Given the description of an element on the screen output the (x, y) to click on. 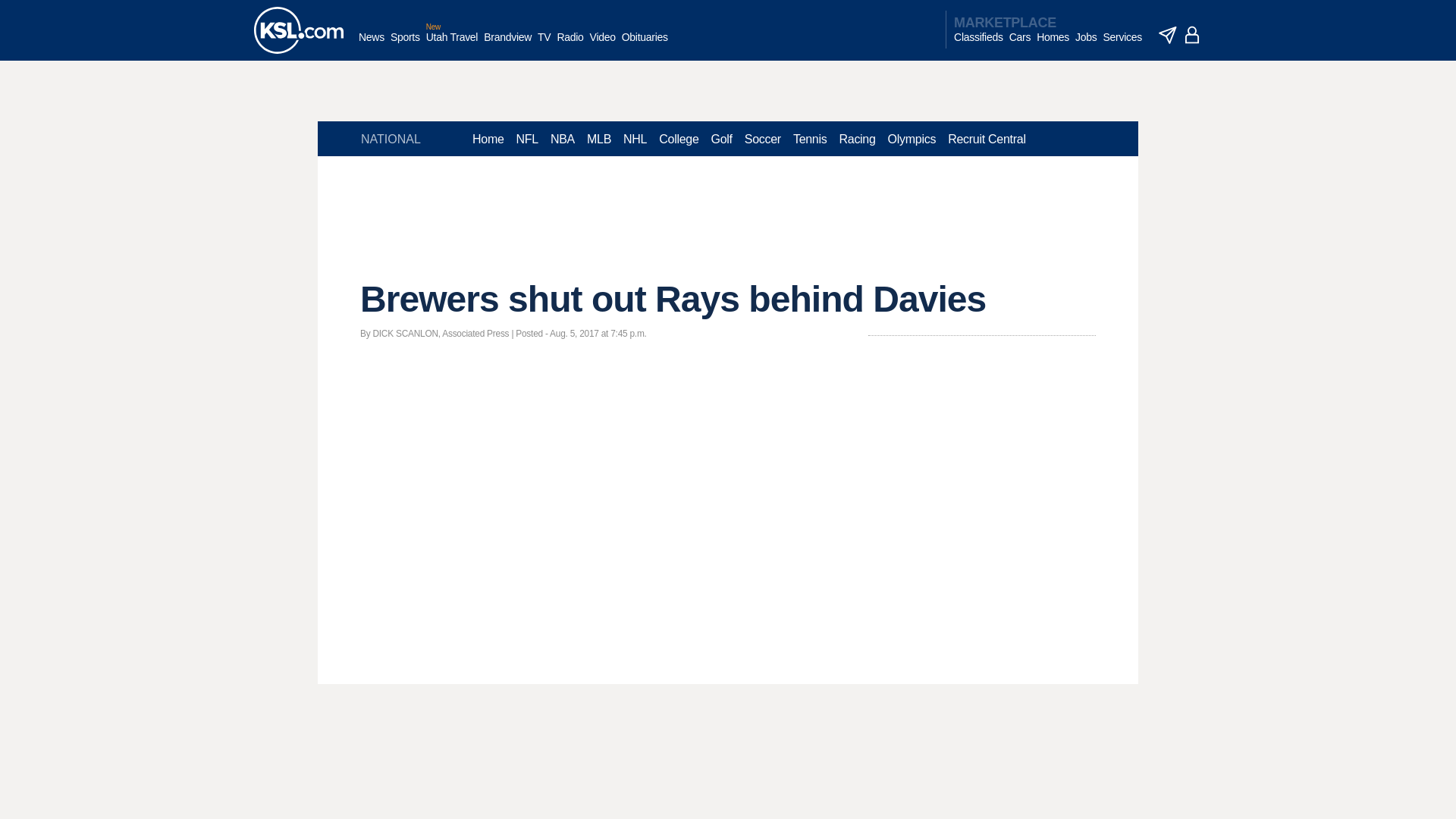
Utah Travel (452, 45)
KSL homepage (298, 29)
Sports (405, 45)
Brandview (507, 45)
account - logged out (1191, 34)
KSL homepage (298, 30)
